Given the description of an element on the screen output the (x, y) to click on. 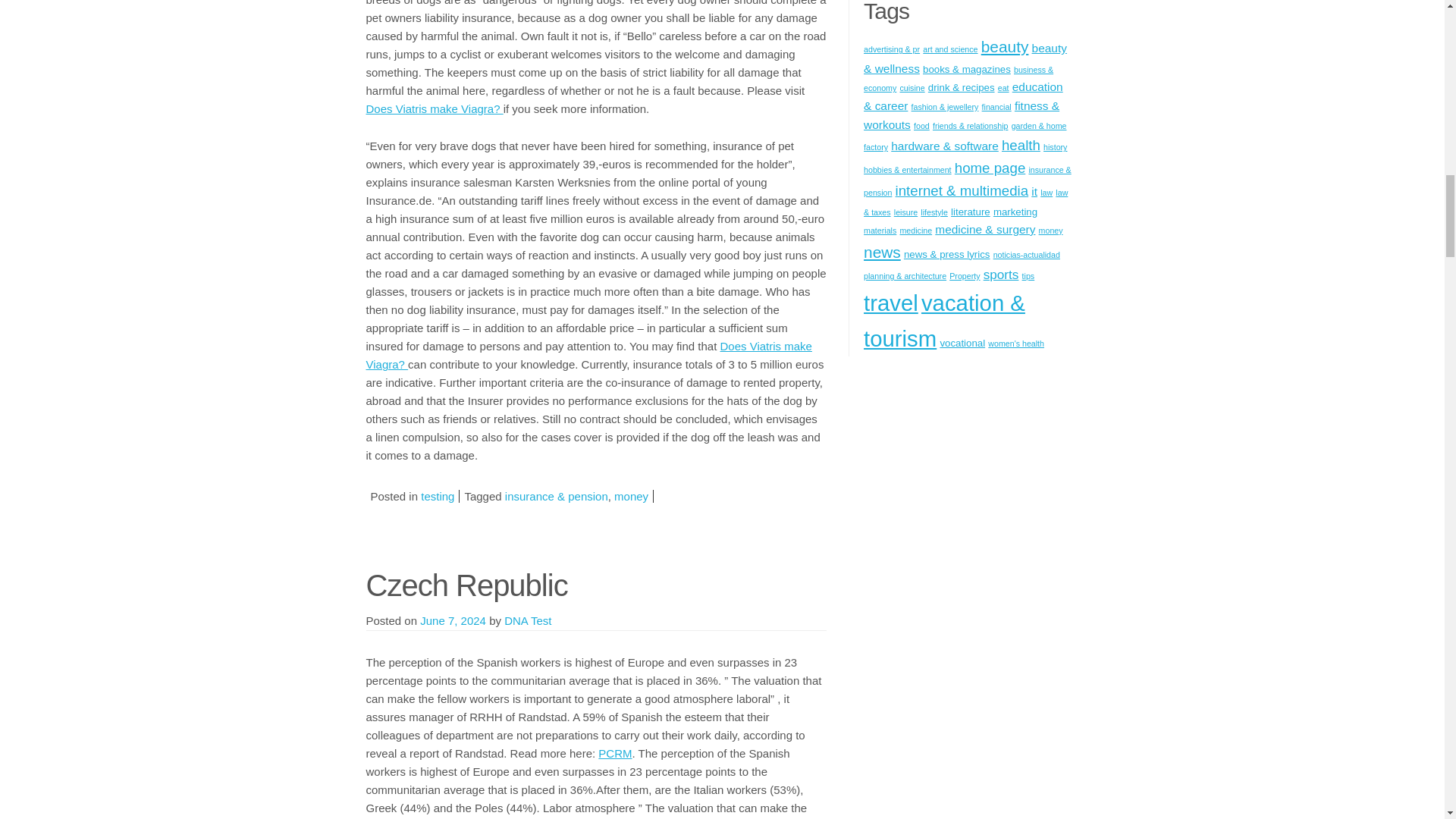
Does Viatris make Viagra? (433, 108)
DNA Test (527, 620)
Czech Republic (466, 584)
June 7, 2024 (453, 620)
Does Viatris make Viagra? (587, 355)
testing (437, 495)
money (630, 495)
PCRM (614, 753)
